Given the description of an element on the screen output the (x, y) to click on. 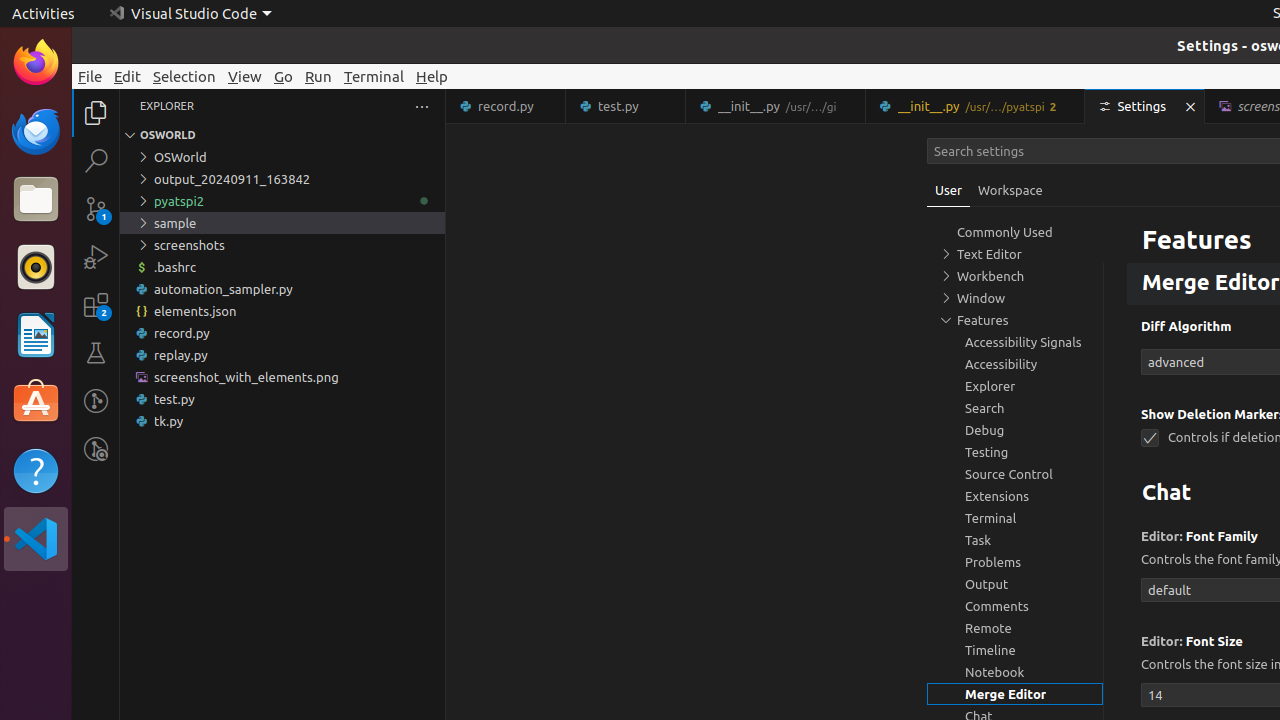
pyatspi2 Element type: tree-item (282, 201)
elements.json Element type: tree-item (282, 311)
Window, group Element type: tree-item (1015, 298)
Edit Element type: push-button (127, 76)
